Given the description of an element on the screen output the (x, y) to click on. 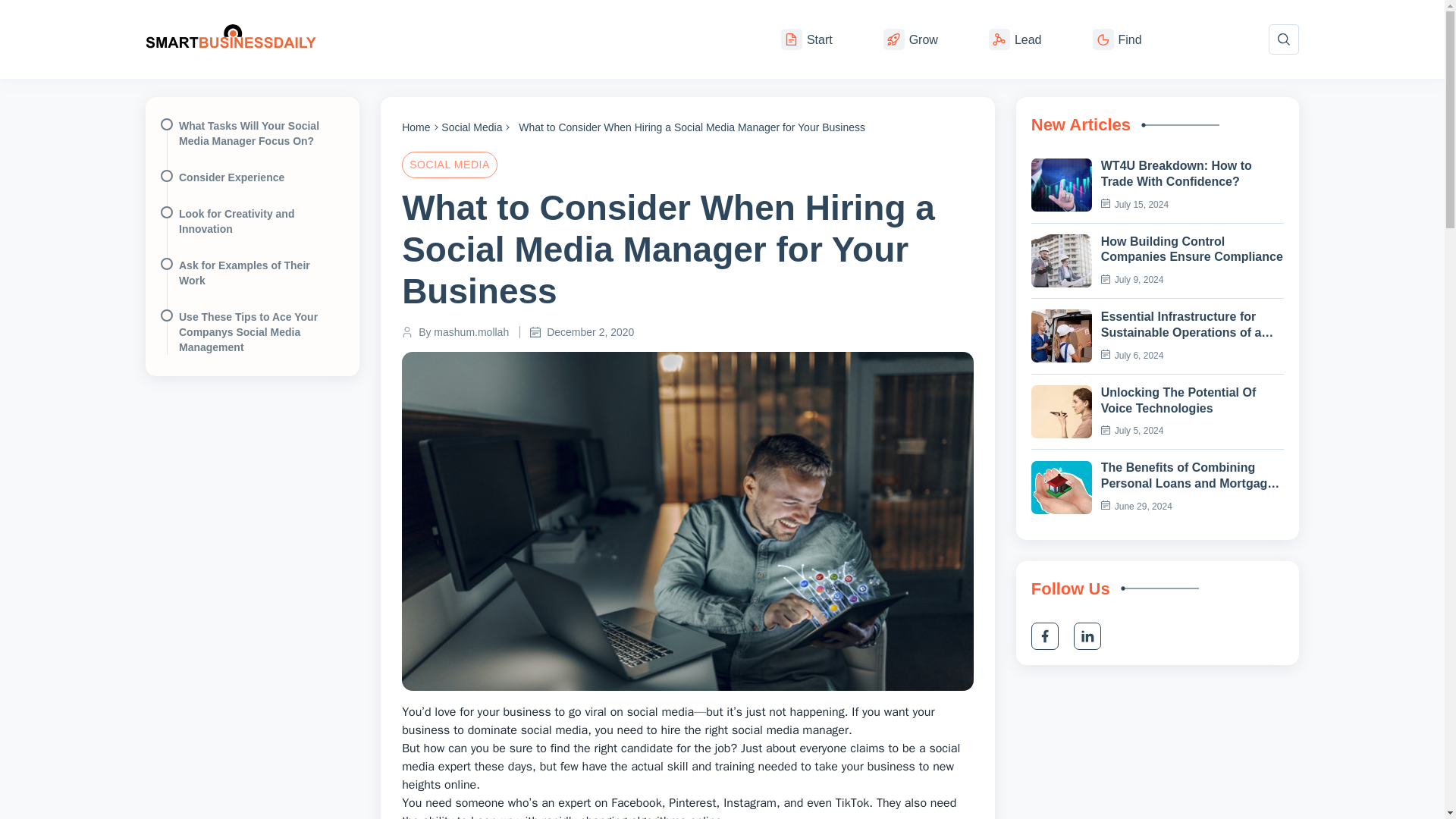
Social Media (471, 127)
Grow (910, 38)
Start (806, 38)
Find (1116, 38)
Lead (1015, 38)
Social Media (449, 164)
